Given the description of an element on the screen output the (x, y) to click on. 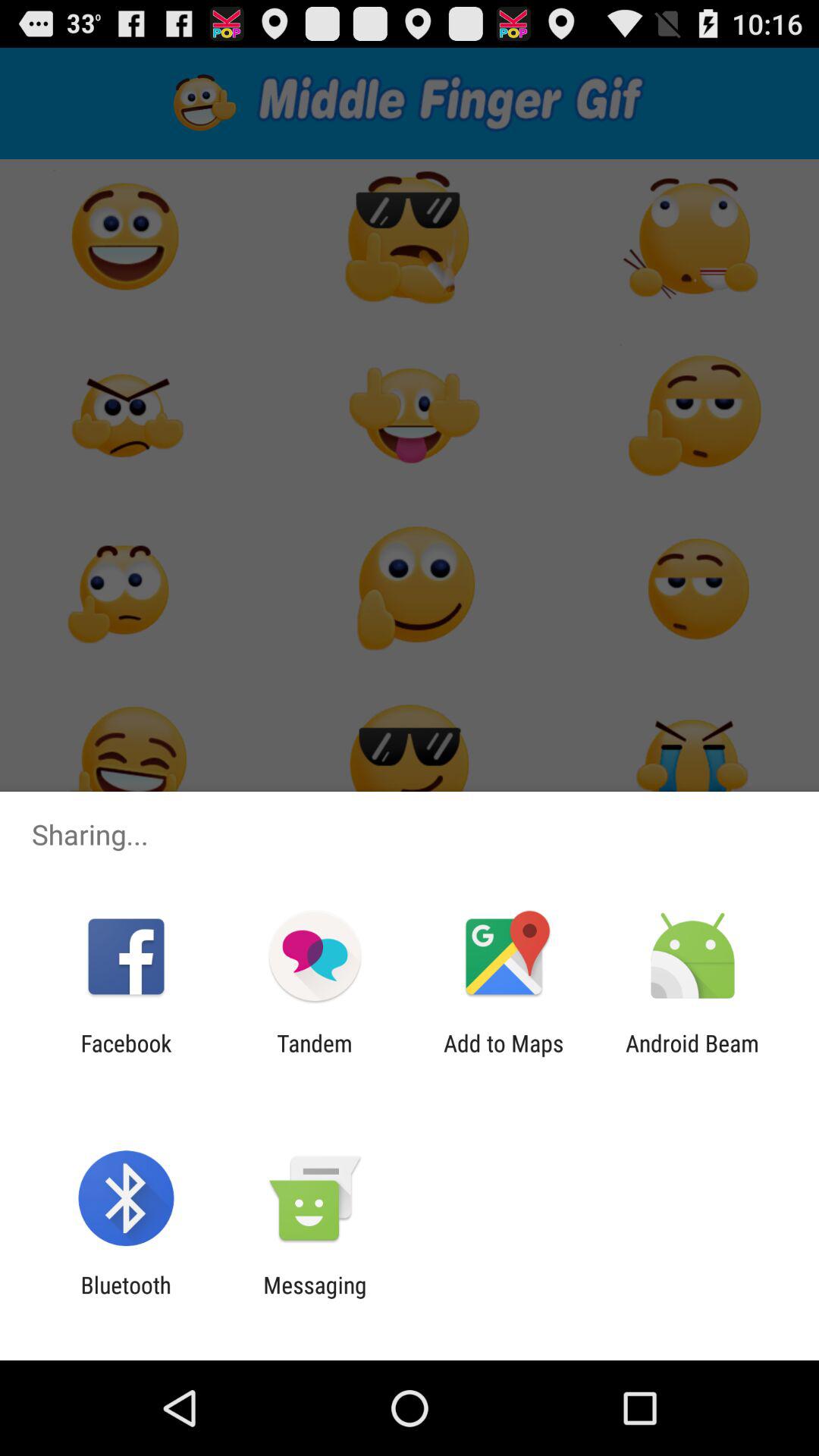
select the bluetooth icon (125, 1298)
